Given the description of an element on the screen output the (x, y) to click on. 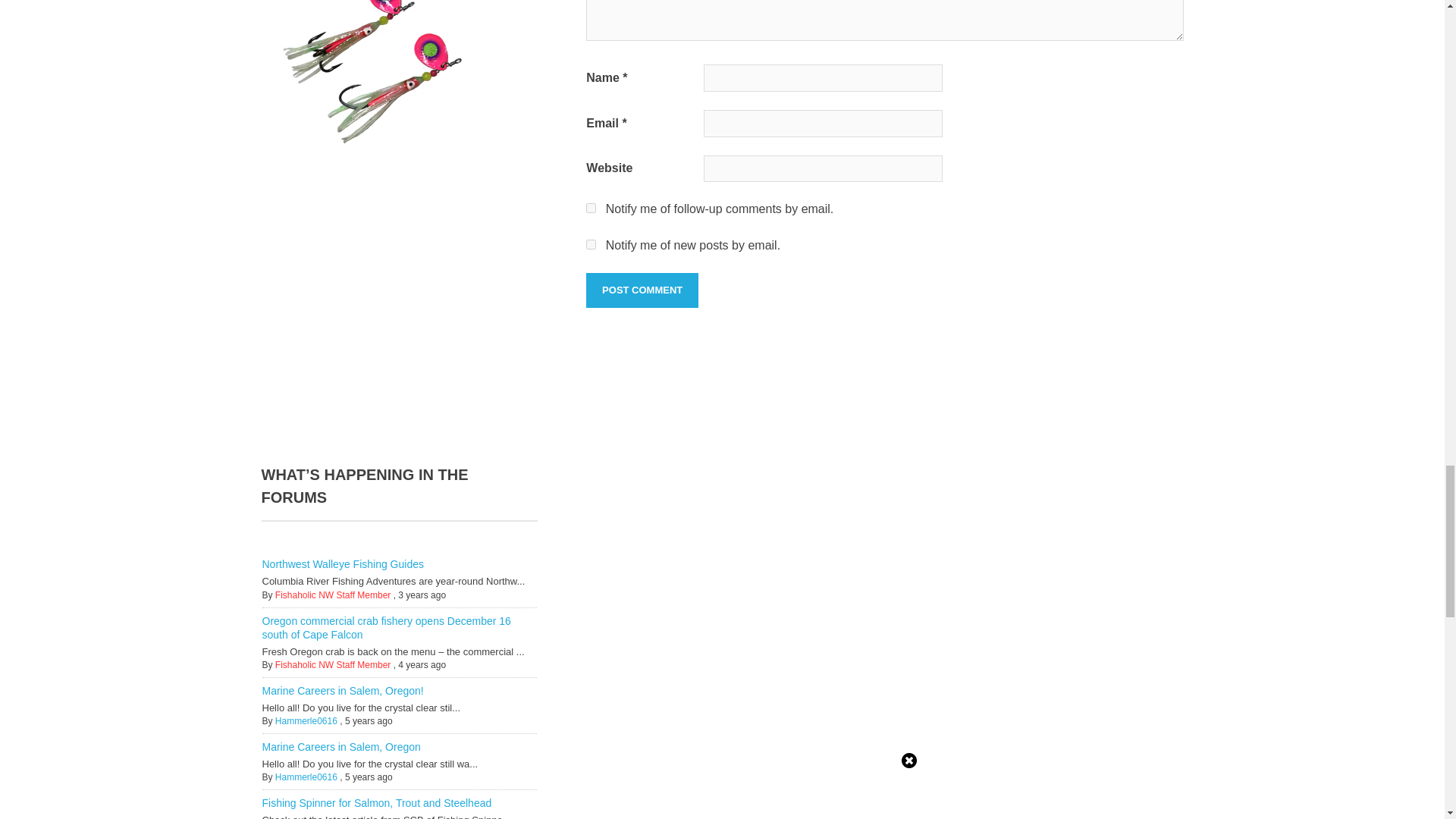
Post Comment (642, 289)
Fishaholic NW Staff Member (333, 594)
Marine Careers in Salem, Oregon! (342, 690)
Dirty Troll "Pink Ghost" 3.5 Trolling Spinners (373, 79)
Marine Careers in Salem, Oregon (341, 746)
subscribe (590, 244)
Advertisement (387, 307)
subscribe (590, 207)
Fishaholic NW Staff Member (333, 665)
Hammerle0616 (306, 720)
Fishaholic NW Staff Member (333, 594)
Post Comment (642, 289)
Northwest Walleye Fishing Guides (342, 563)
Hammerle0616 (306, 720)
